Given the description of an element on the screen output the (x, y) to click on. 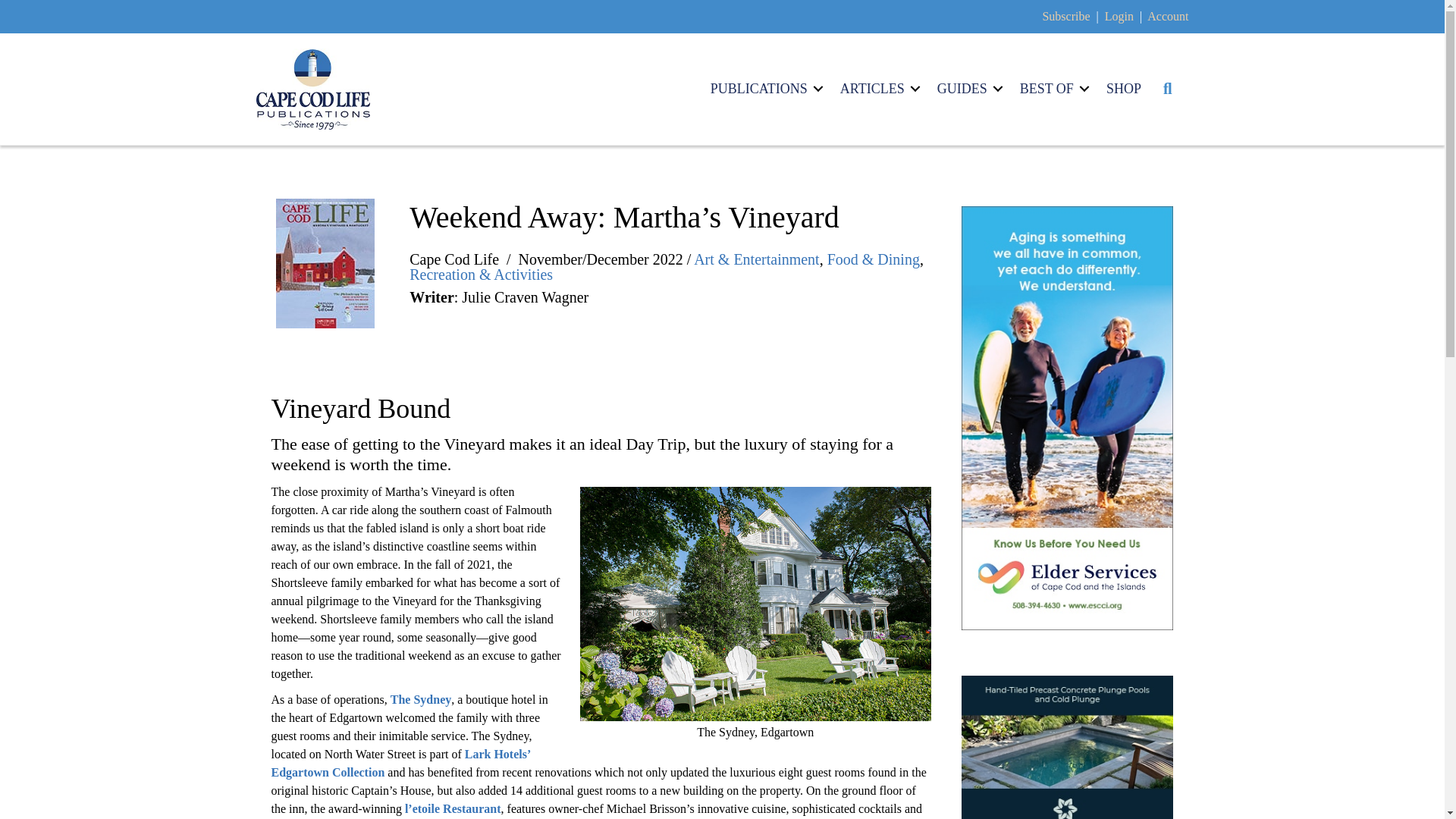
Account (1167, 15)
Login (1119, 15)
PUBLICATIONS (764, 88)
Subscribe (1065, 15)
ARTICLES (877, 88)
GUIDES (967, 88)
BEST OF (1051, 88)
